Given the description of an element on the screen output the (x, y) to click on. 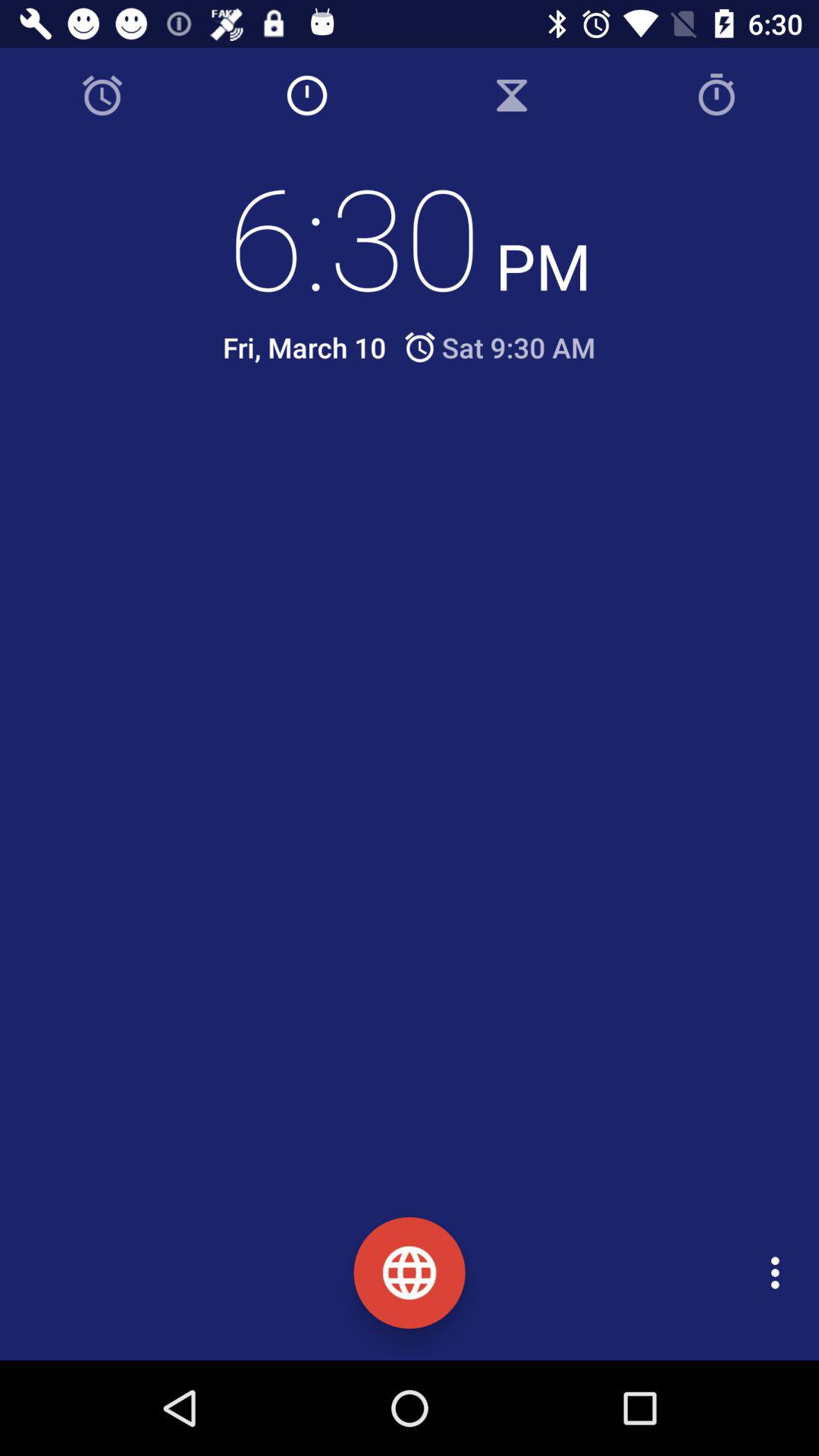
press sat 9 30 item (498, 347)
